Given the description of an element on the screen output the (x, y) to click on. 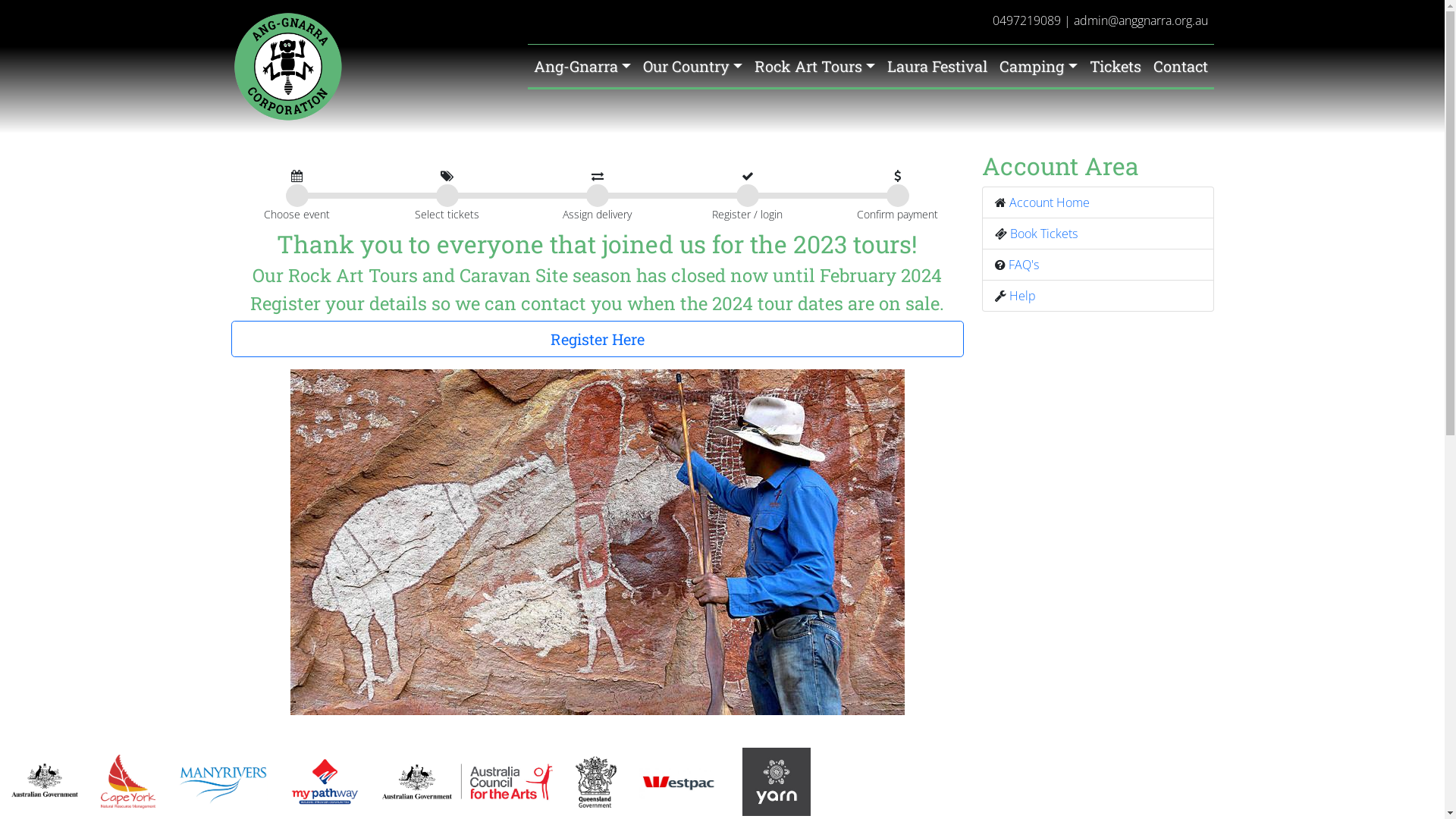
Camping Element type: text (1037, 65)
Help Element type: text (1021, 295)
Account Home Element type: text (1048, 202)
Ang-Gnarra Element type: text (582, 65)
Rock Art Tours Element type: text (814, 65)
Contact Element type: text (1179, 65)
Our Country Element type: text (692, 65)
0497219089 Element type: text (1025, 20)
Register Here Element type: text (596, 338)
admin@anggnarra.org.au Element type: text (1140, 20)
Laura Festival Element type: text (937, 65)
Tickets Element type: text (1114, 65)
Book Tickets Element type: text (1043, 233)
FAQ's Element type: text (1023, 264)
